Given the description of an element on the screen output the (x, y) to click on. 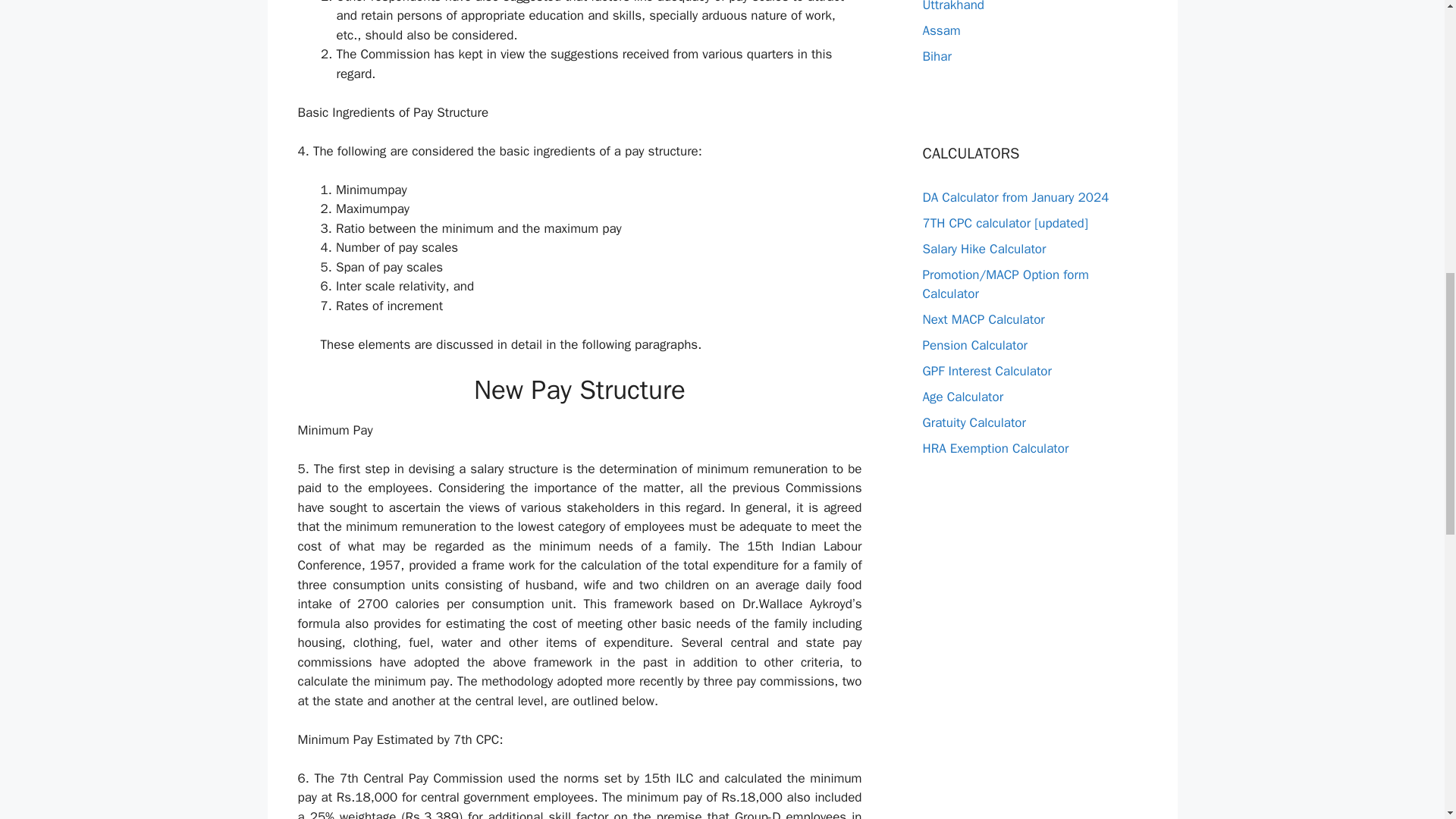
Assam (940, 30)
Pension Calculator (974, 344)
Bihar (935, 56)
Uttrakhand (952, 6)
DA Calculator from January 2024 (1014, 197)
Scroll back to top (1406, 720)
Salary Hike Calculator (983, 248)
Next MACP Calculator (982, 319)
